Given the description of an element on the screen output the (x, y) to click on. 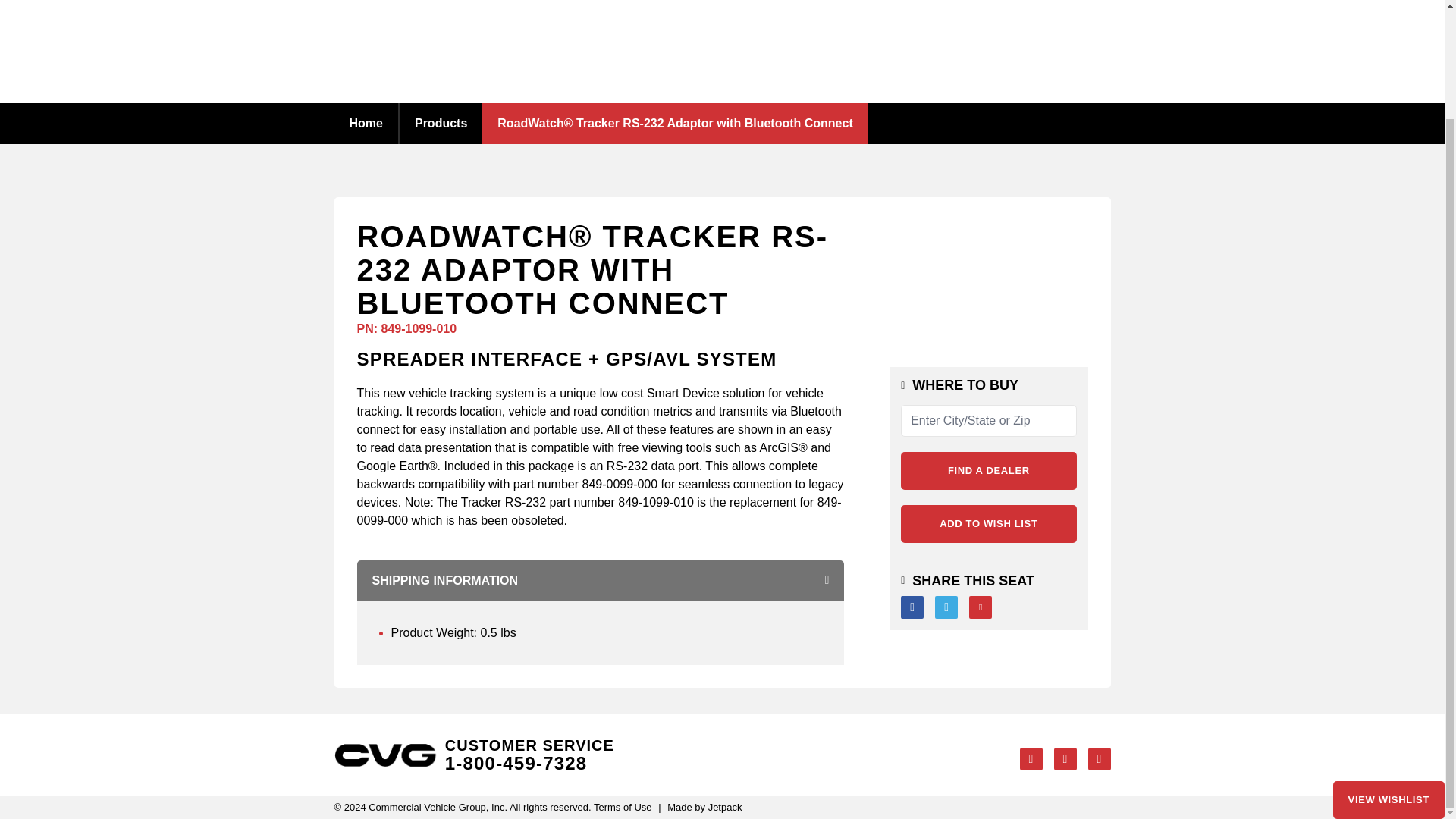
FIND A DEALER (988, 470)
Products (439, 122)
SHIPPING INFORMATION (600, 580)
Home (365, 122)
ADD TO WISH LIST (988, 523)
